Given the description of an element on the screen output the (x, y) to click on. 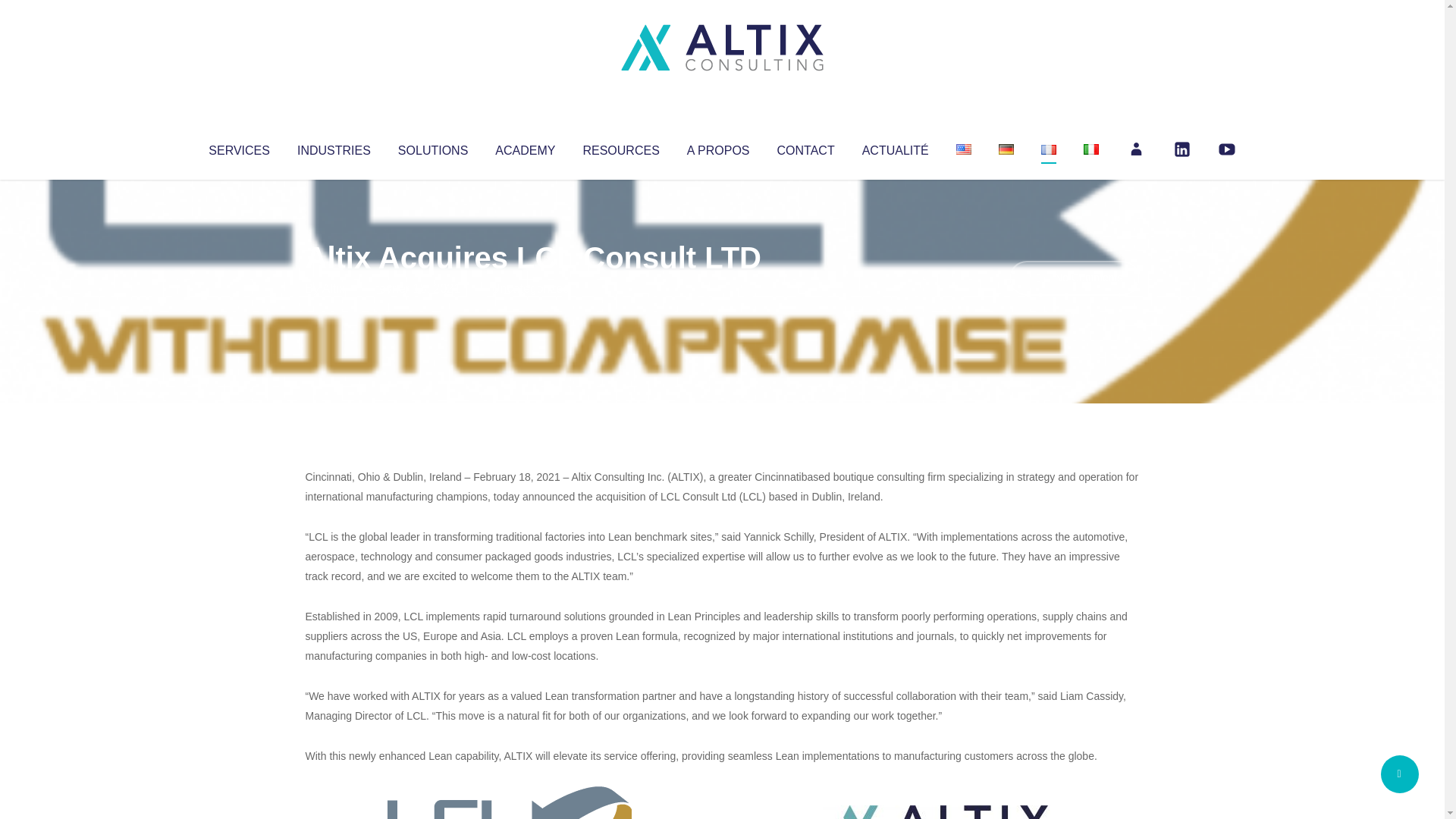
RESOURCES (620, 146)
Articles par Altix (333, 287)
SERVICES (238, 146)
INDUSTRIES (334, 146)
ACADEMY (524, 146)
Uncategorized (530, 287)
SOLUTIONS (432, 146)
A PROPOS (718, 146)
No Comments (1073, 278)
Altix (333, 287)
